Given the description of an element on the screen output the (x, y) to click on. 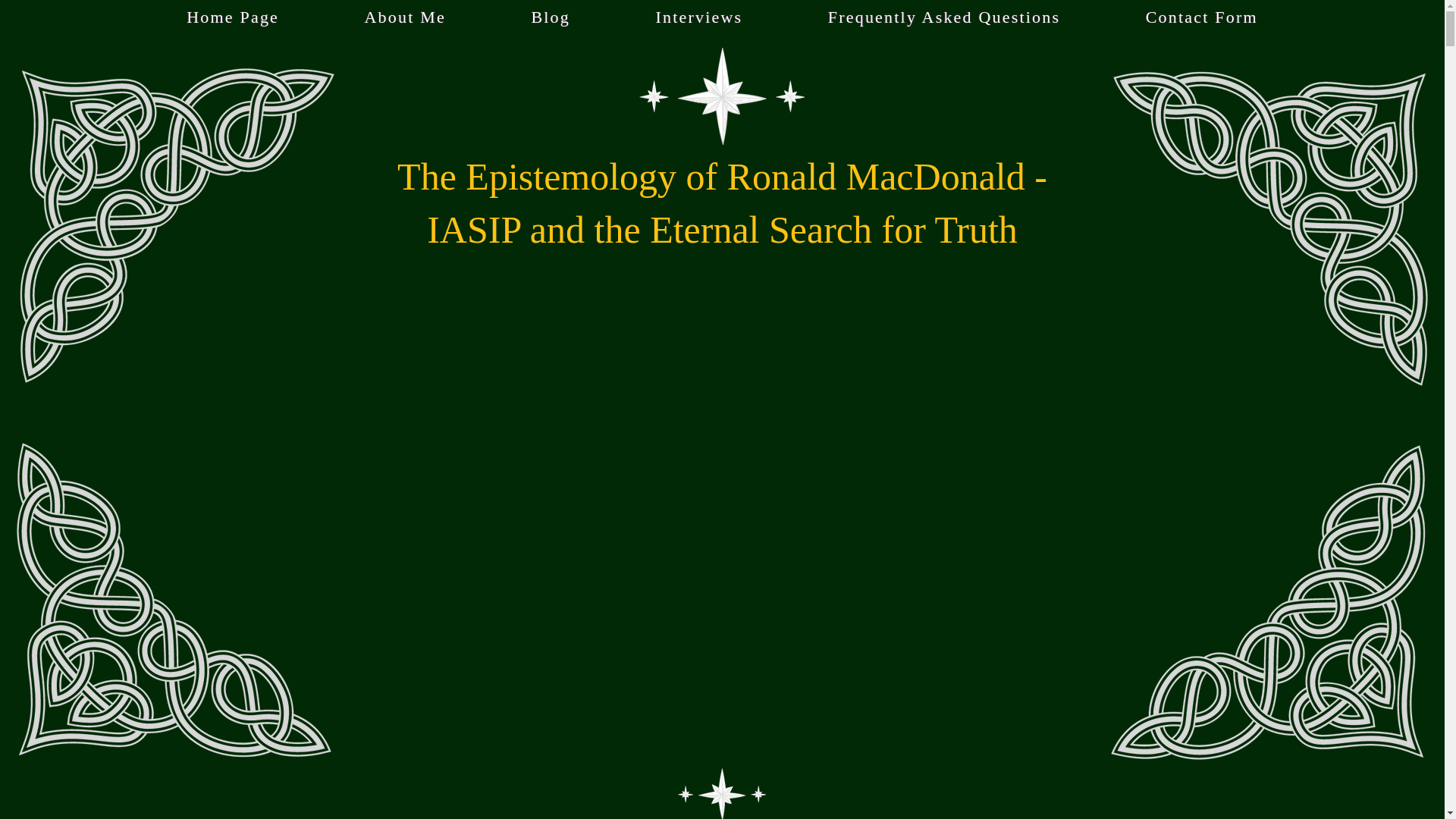
Contact Form (1201, 17)
Interviews (698, 17)
Frequently Asked Questions (944, 17)
Blog (549, 17)
About Me (404, 17)
Home Page (232, 17)
